Given the description of an element on the screen output the (x, y) to click on. 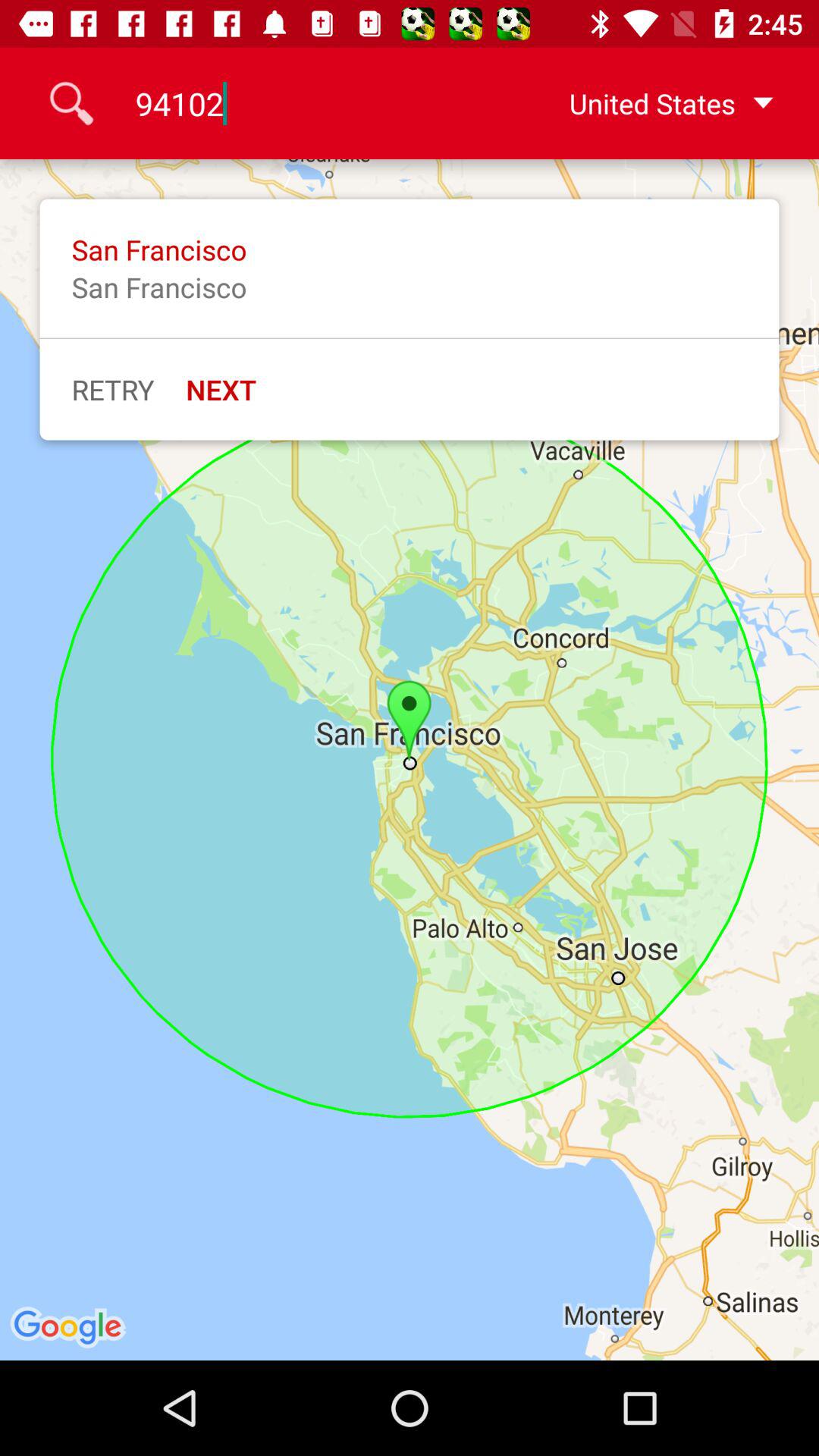
swipe to the retry item (112, 389)
